Given the description of an element on the screen output the (x, y) to click on. 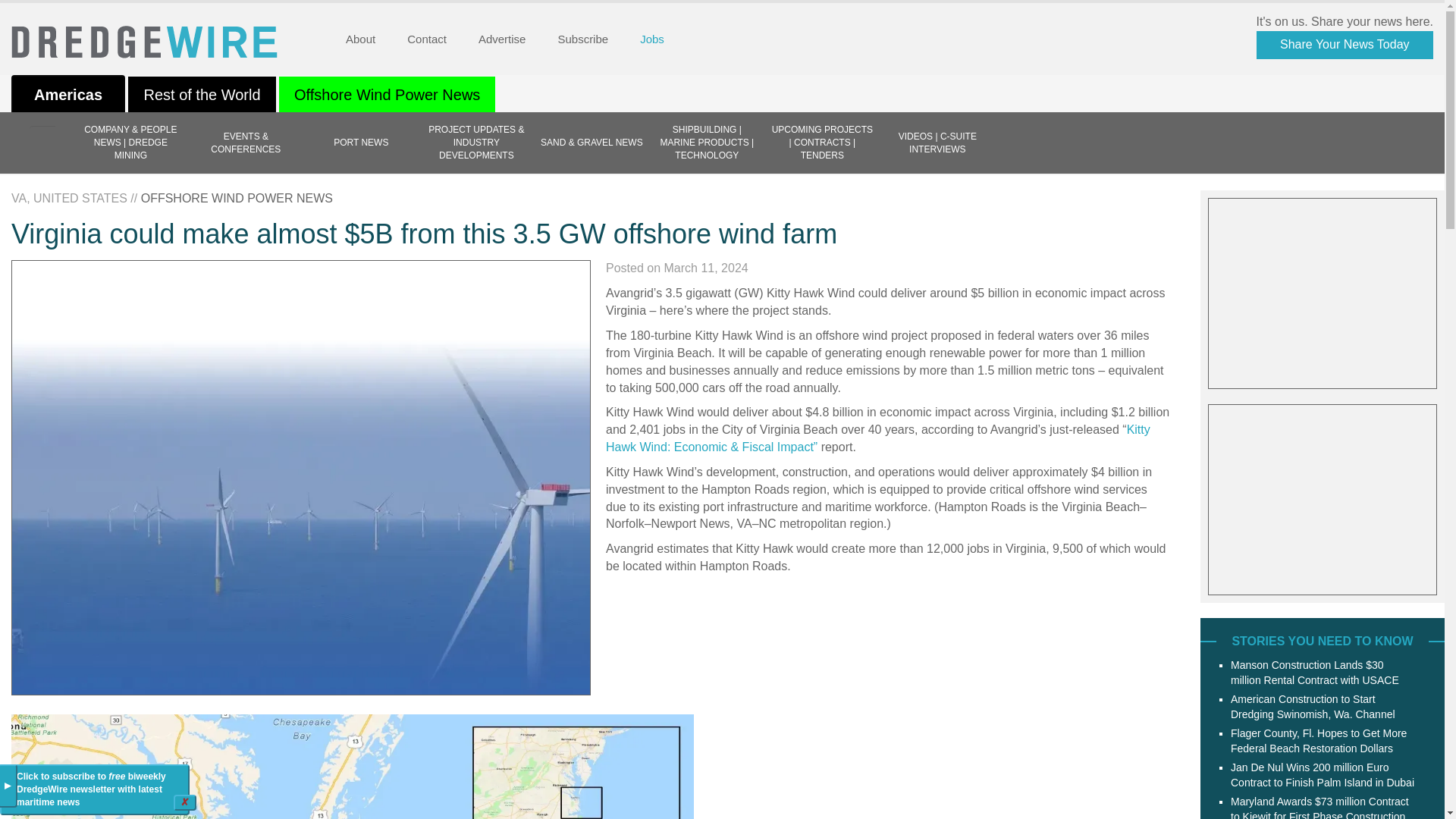
Americas (68, 95)
Subscribe (582, 38)
Jobs (651, 38)
Advertise (502, 38)
About (360, 38)
Share Your News Today (1344, 44)
Contact (426, 38)
